Given the description of an element on the screen output the (x, y) to click on. 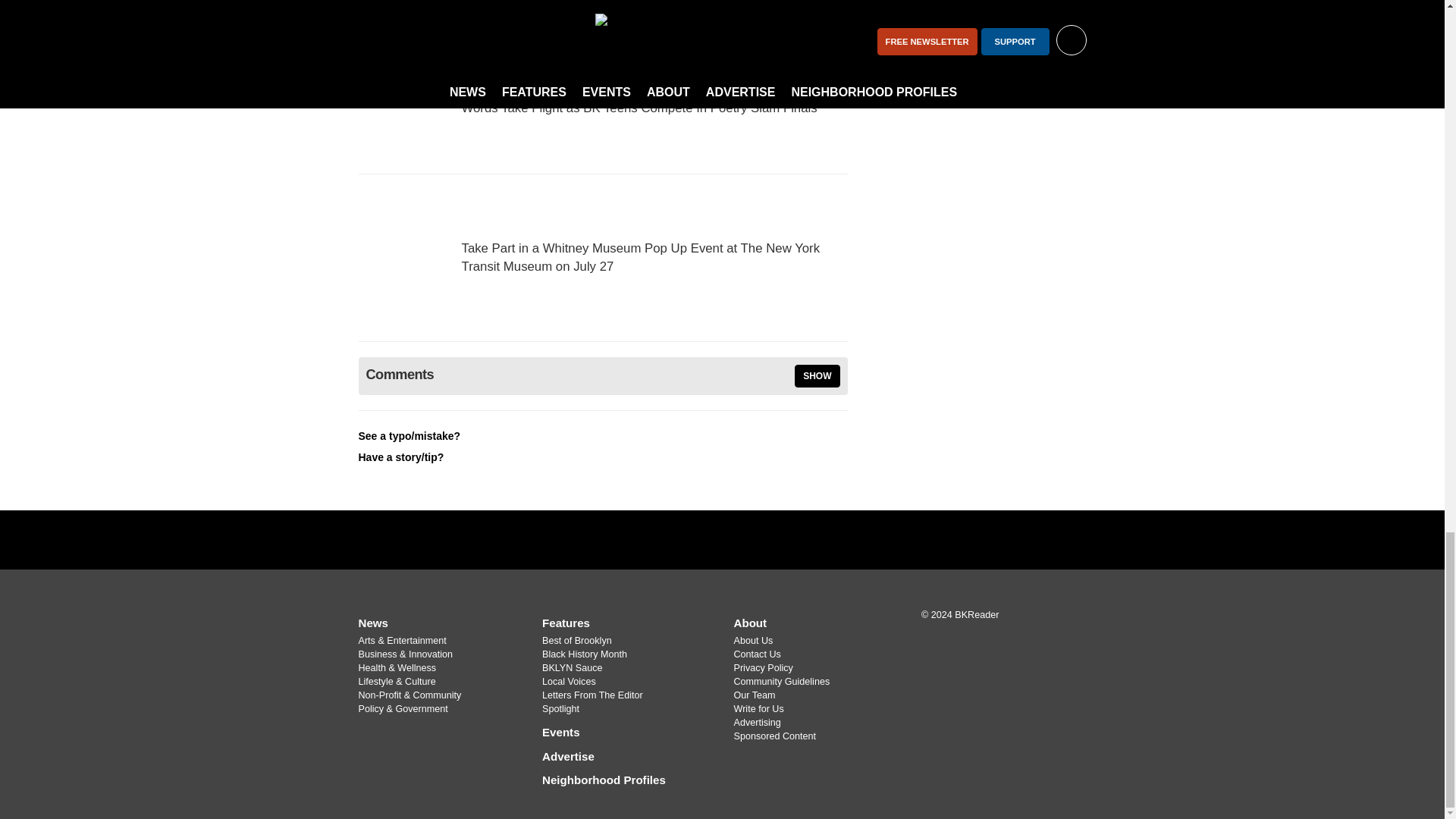
Instagram (741, 538)
Facebook (702, 538)
